Given the description of an element on the screen output the (x, y) to click on. 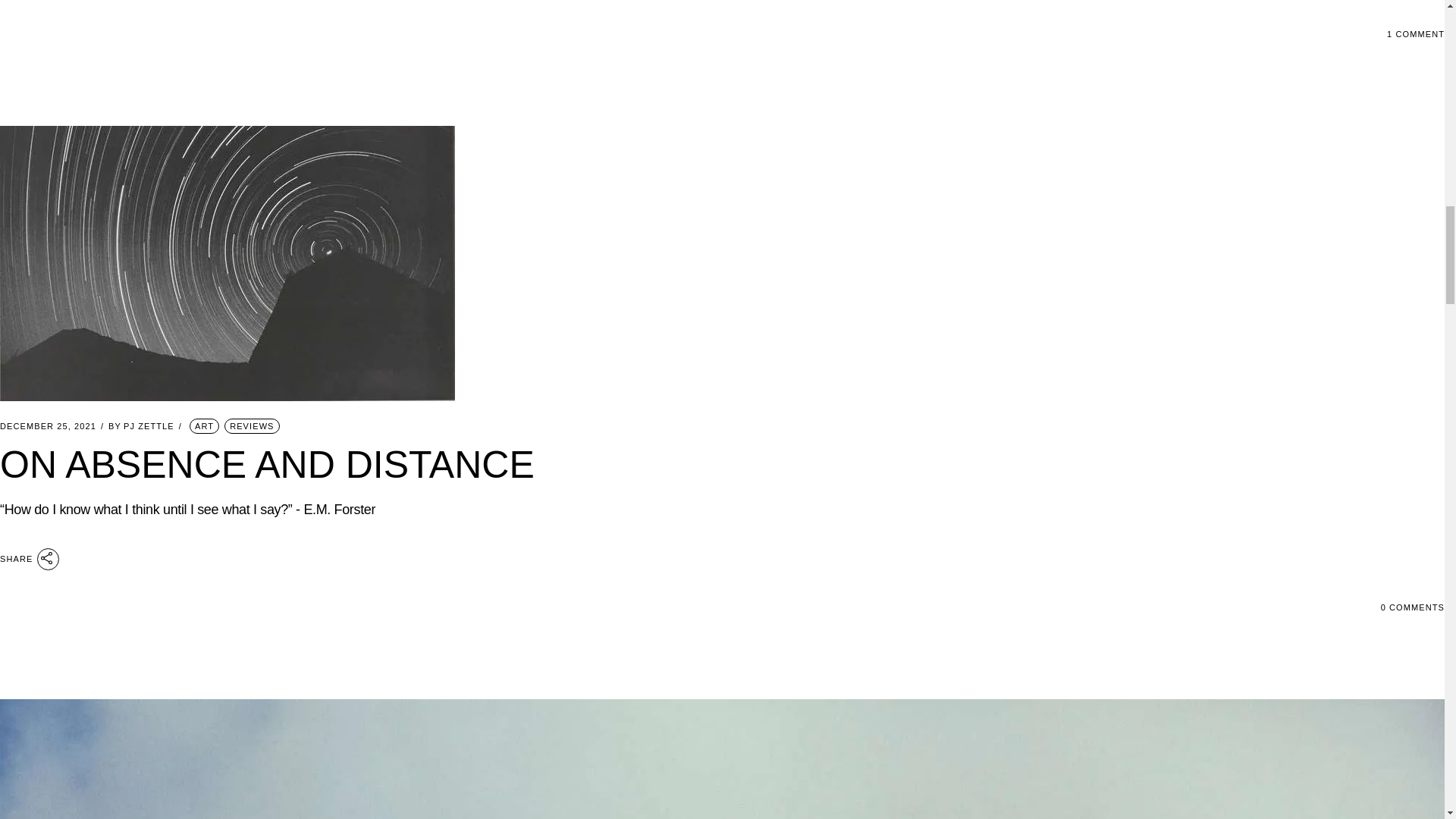
0 COMMENTS (1412, 607)
ON ABSENCE AND DISTANCE (267, 464)
REVIEWS (251, 426)
1 COMMENT (1415, 34)
SHARE (29, 558)
ART (204, 426)
DECEMBER 25, 2021 (48, 426)
